Given the description of an element on the screen output the (x, y) to click on. 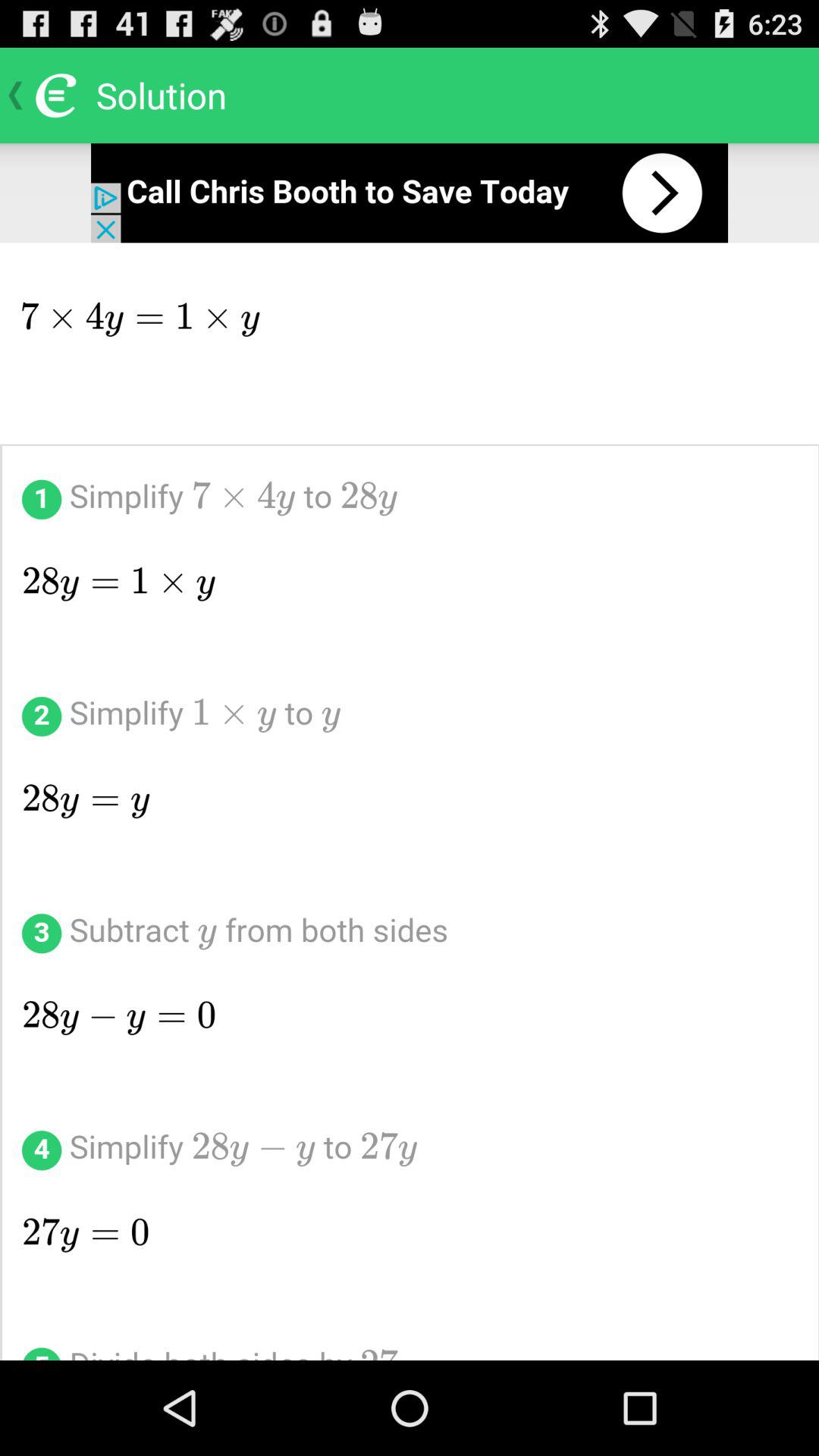
show solution steps (409, 801)
